Given the description of an element on the screen output the (x, y) to click on. 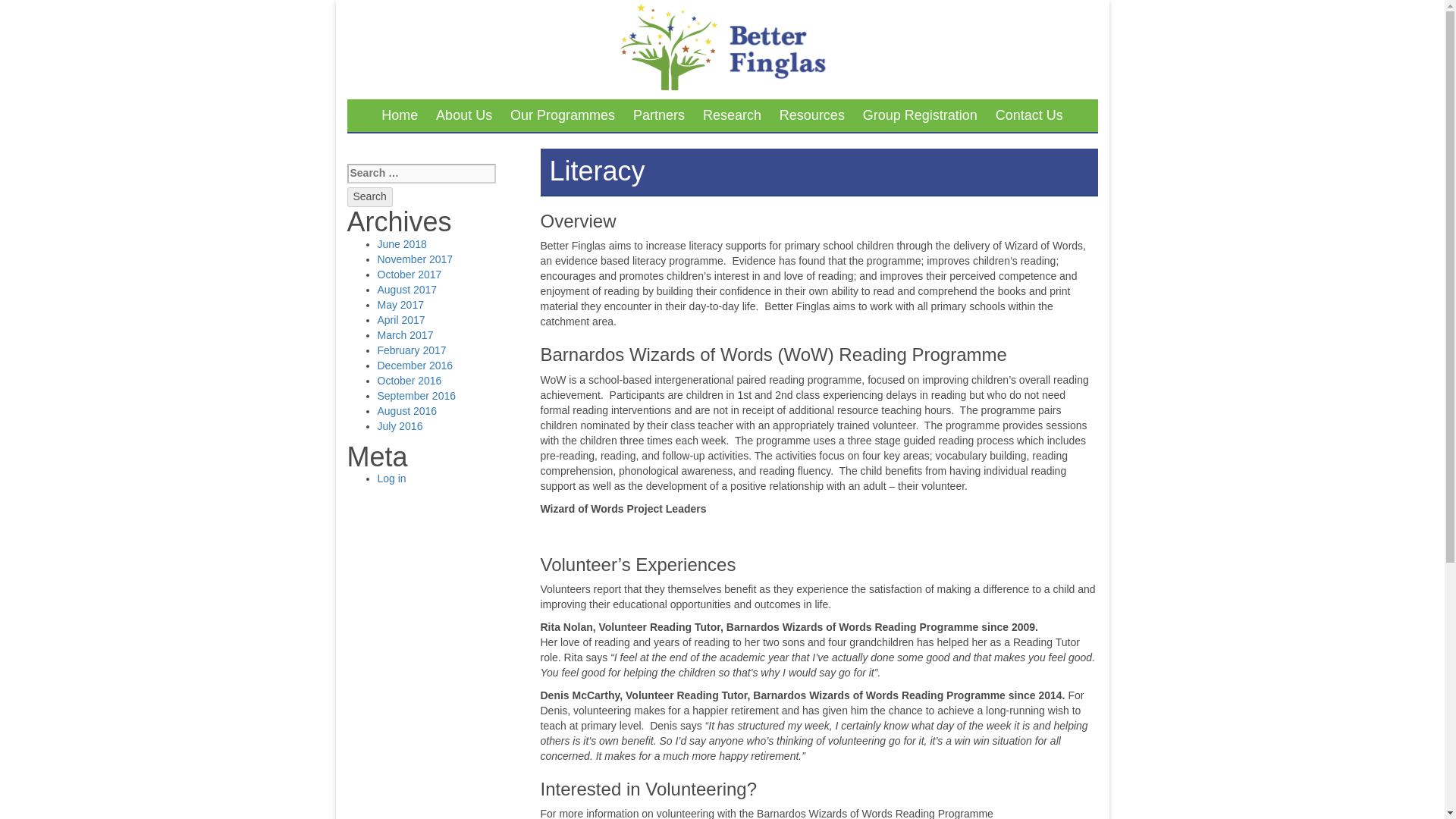
Our Programmes (562, 115)
Search (370, 197)
About Us (463, 115)
Search (370, 197)
Partners (659, 115)
Home (399, 115)
